Given the description of an element on the screen output the (x, y) to click on. 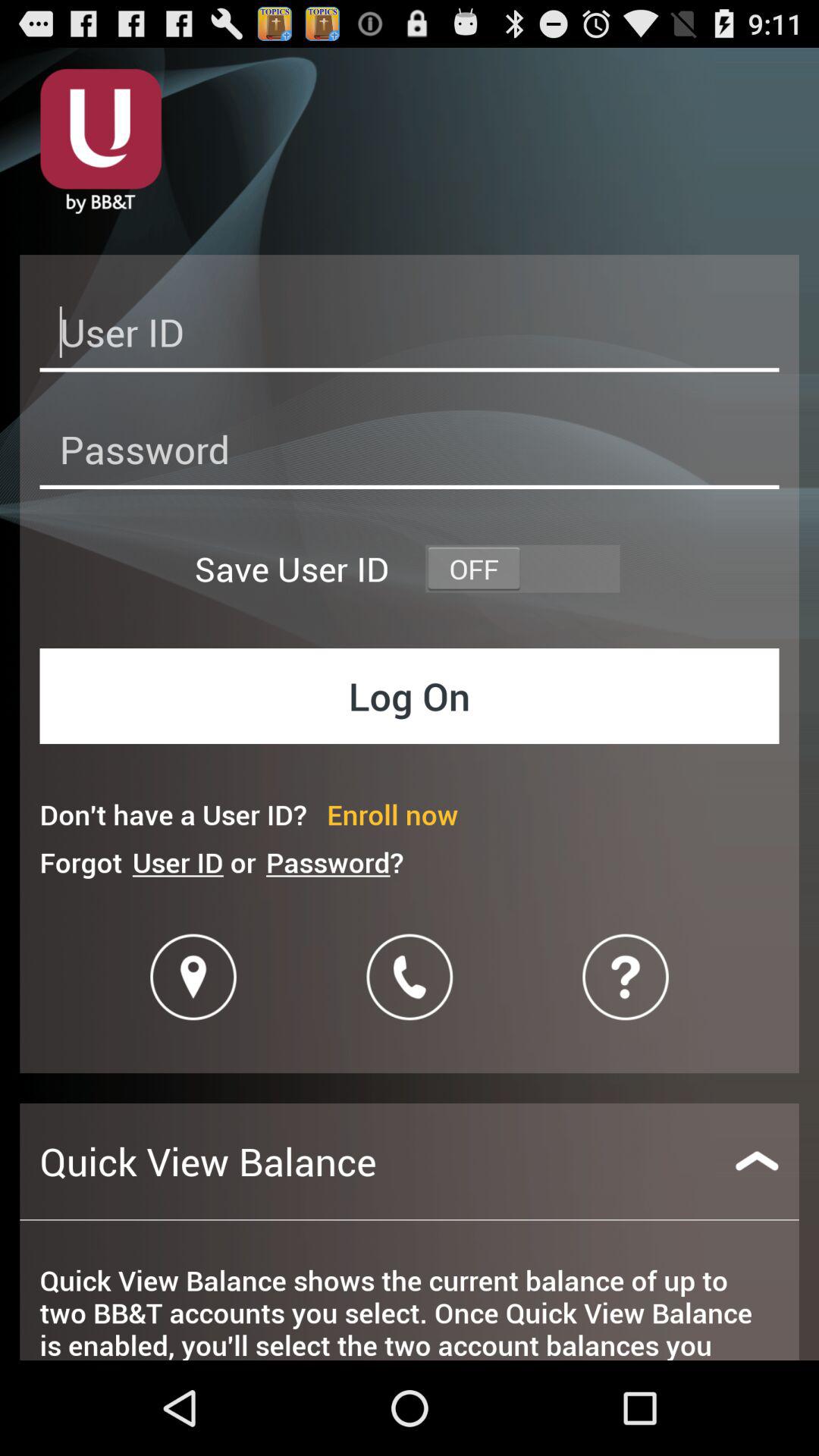
jump to password? item (334, 861)
